Given the description of an element on the screen output the (x, y) to click on. 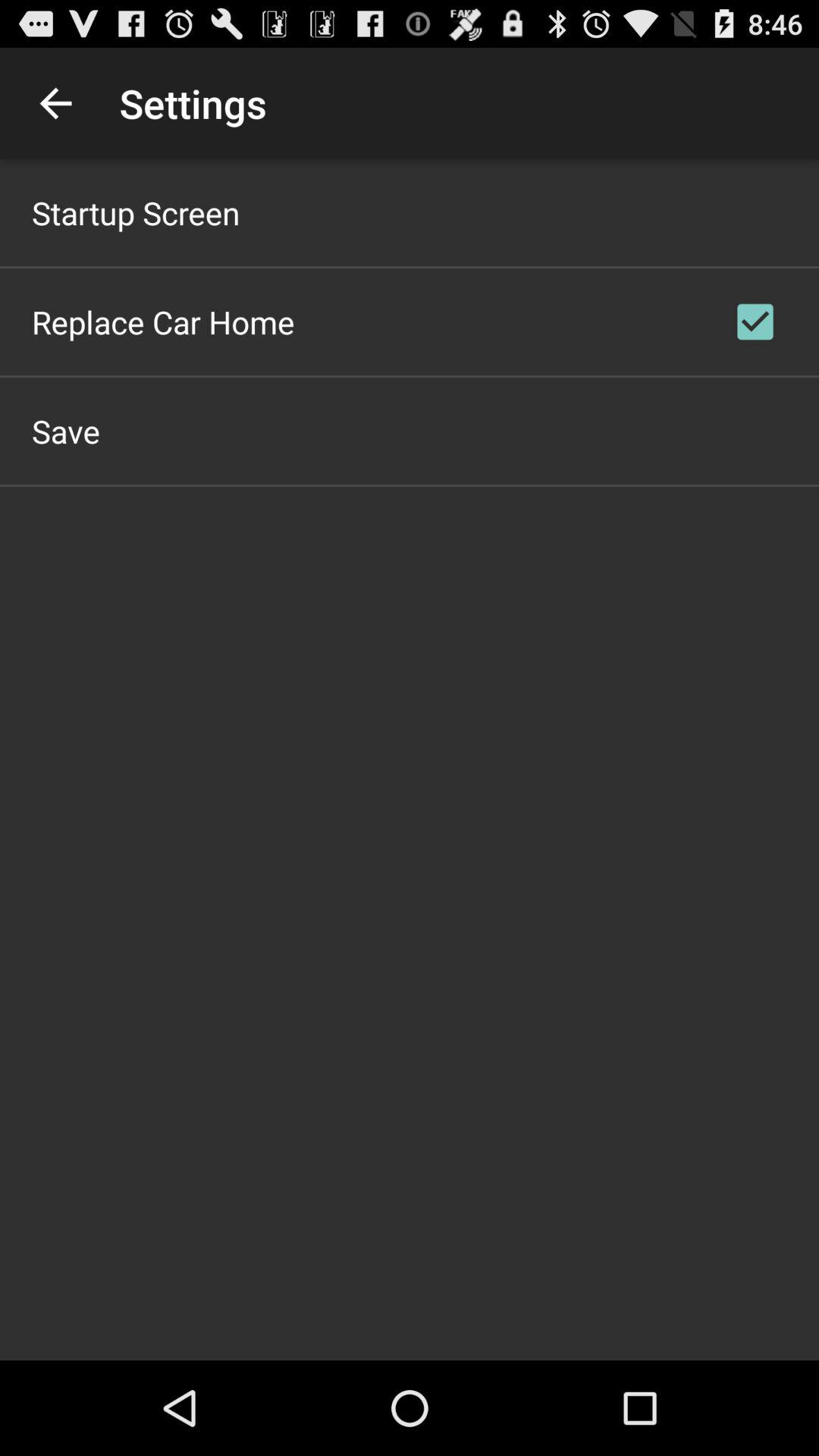
select item above save (162, 321)
